Given the description of an element on the screen output the (x, y) to click on. 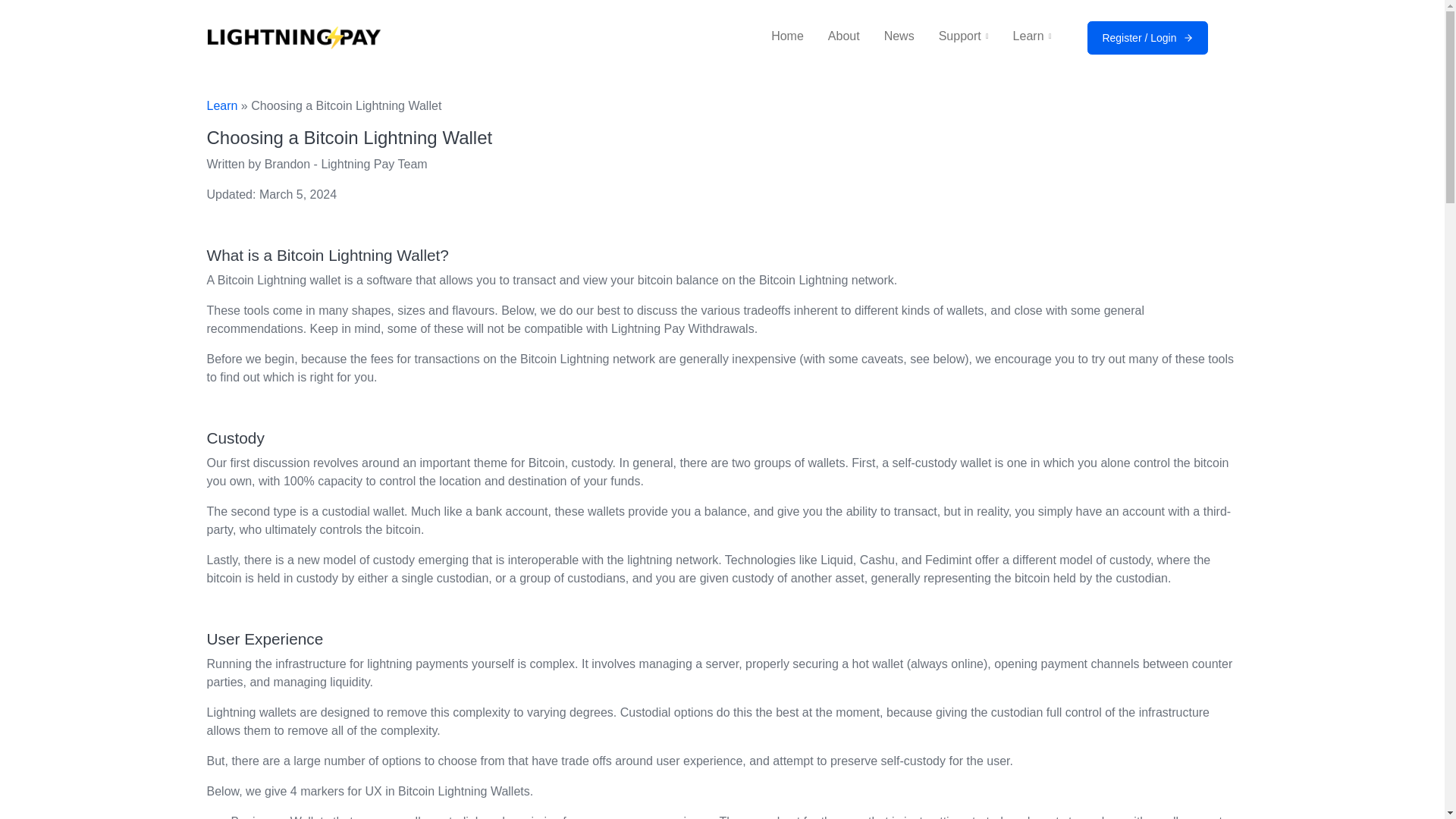
Learn (221, 105)
Learn (1032, 36)
Support (963, 36)
News (898, 36)
Home (787, 36)
About (844, 36)
